Given the description of an element on the screen output the (x, y) to click on. 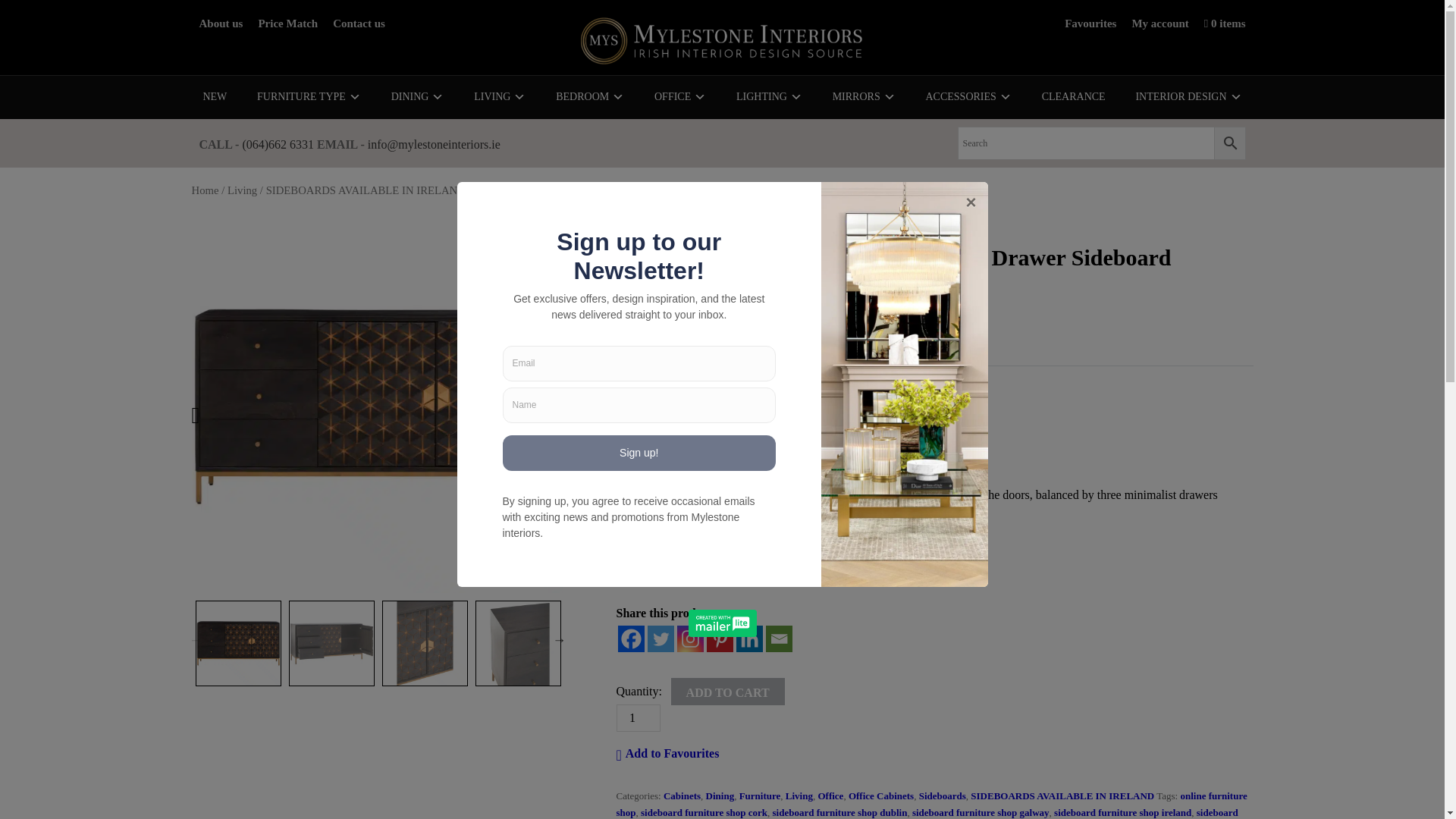
Start shopping (1225, 23)
0 items (1225, 23)
1 (637, 718)
FURNITURE TYPE (309, 97)
Price Match (287, 23)
NEW (214, 97)
Favourites (1090, 23)
My account (1159, 23)
About us (220, 23)
Contact us (359, 23)
DINING (417, 97)
